Given the description of an element on the screen output the (x, y) to click on. 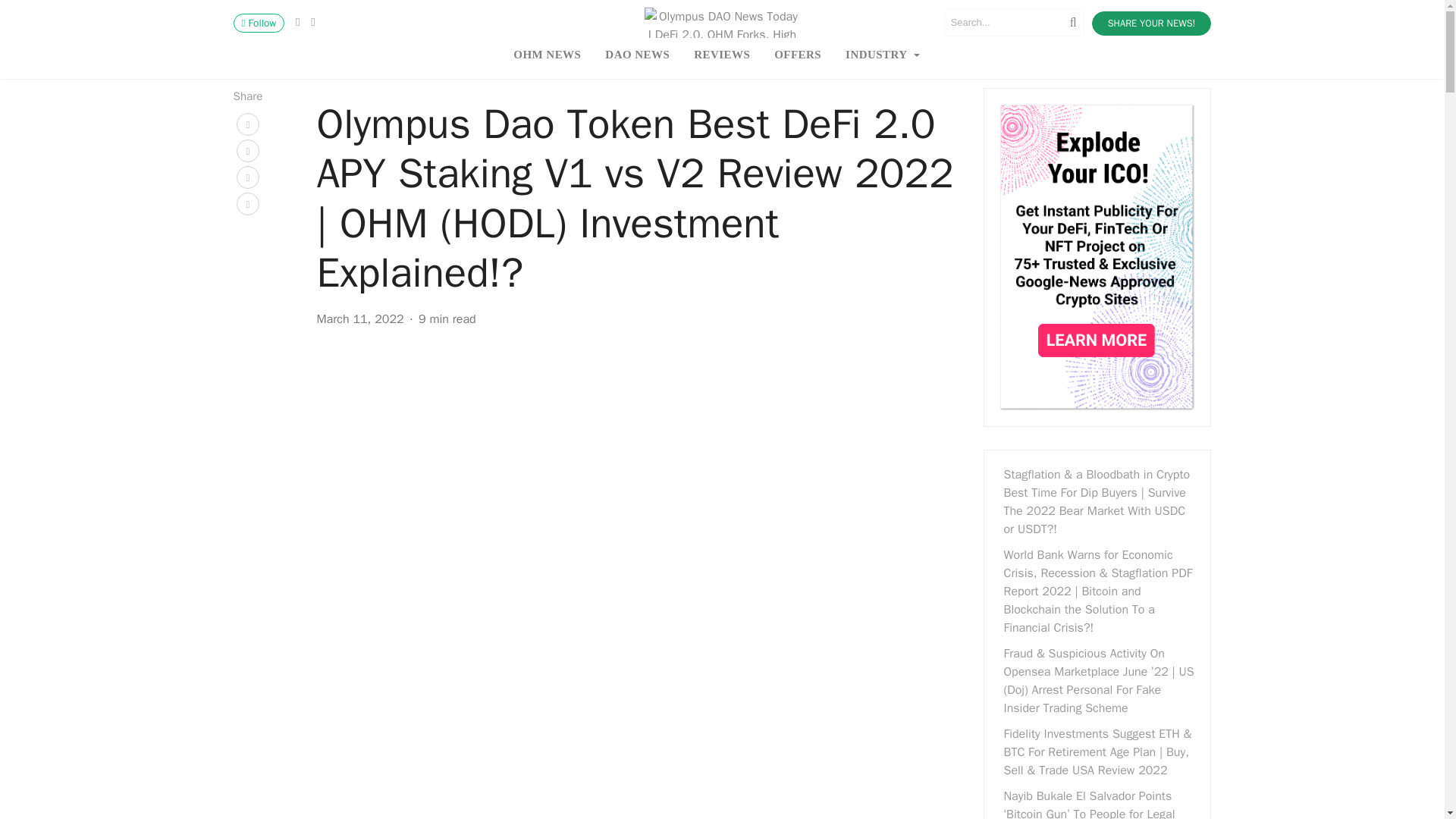
Search for: (1014, 22)
Follow (258, 22)
SHARE YOUR NEWS! (1151, 23)
DAO NEWS (636, 54)
REVIEWS (721, 54)
OHM NEWS (546, 54)
OFFERS (796, 54)
INDUSTRY (881, 54)
